Given the description of an element on the screen output the (x, y) to click on. 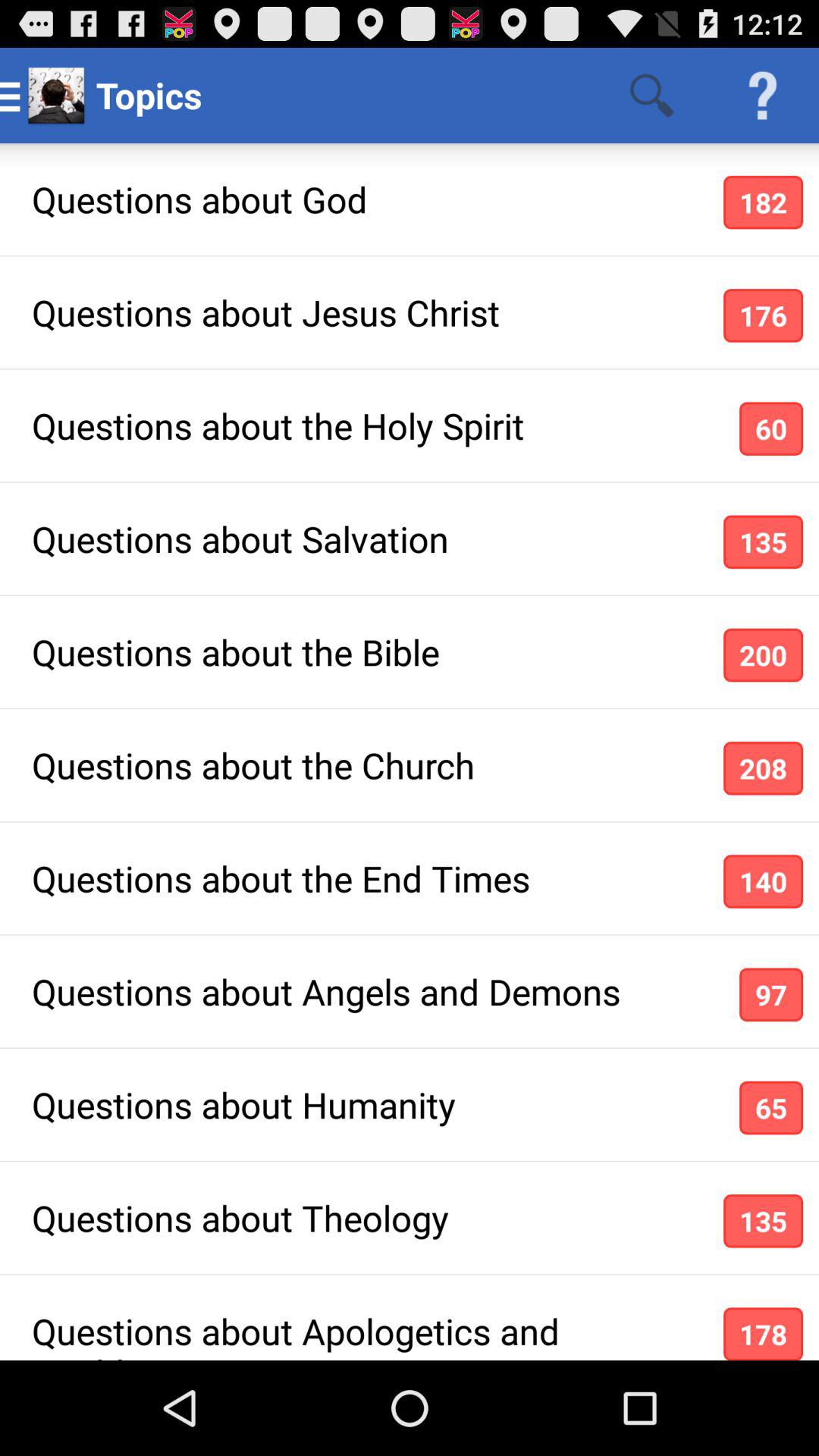
turn off icon to the right of questions about the app (763, 654)
